Given the description of an element on the screen output the (x, y) to click on. 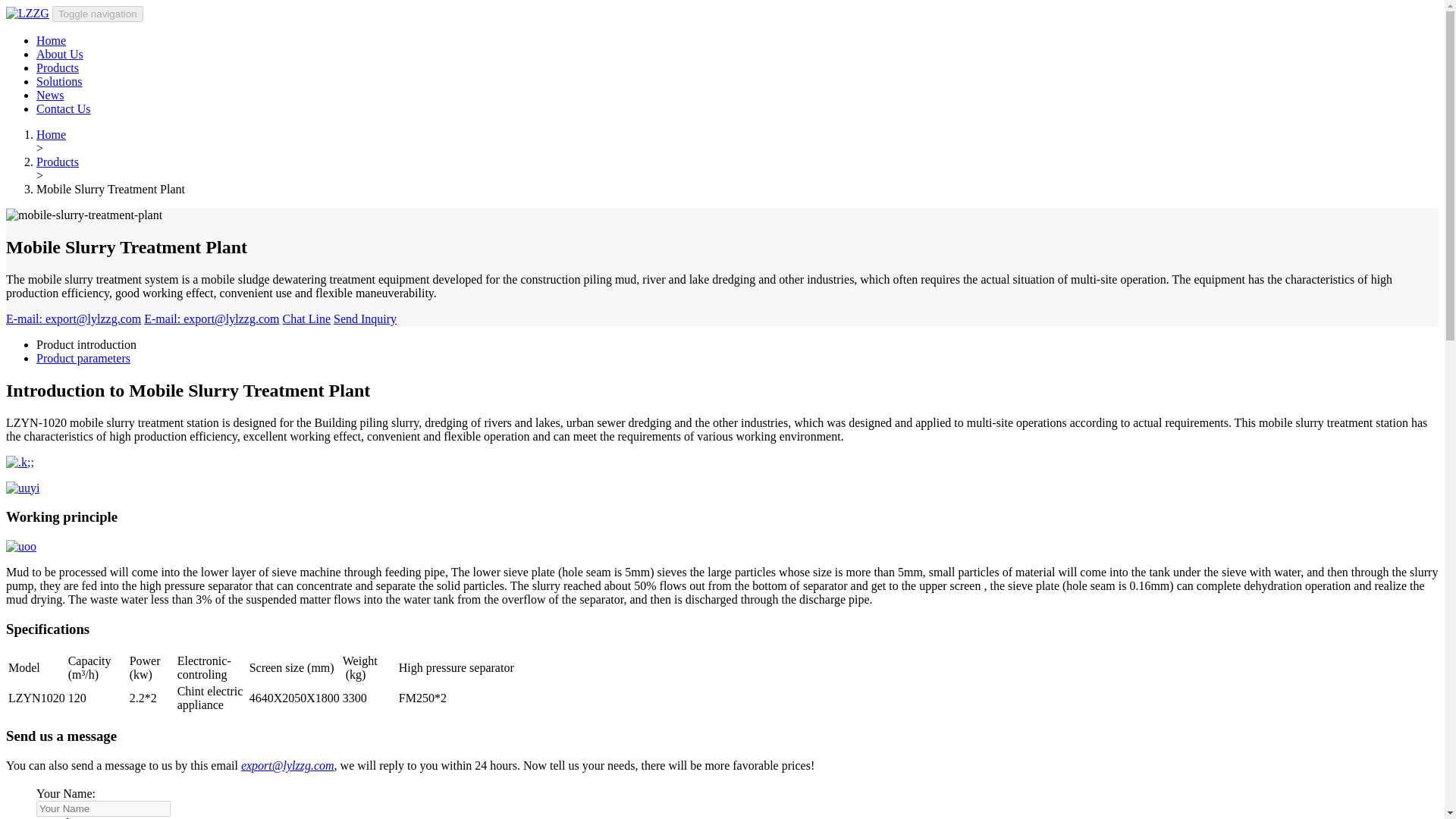
About Us (59, 53)
Send Inquiry (364, 318)
Product parameters (83, 358)
News (50, 94)
Chat Line (306, 318)
Home (50, 133)
Home (50, 40)
Toggle navigation (97, 13)
Contact Us (63, 108)
Product introduction (86, 344)
Products (57, 161)
Solutions (58, 81)
Products (57, 67)
